Given the description of an element on the screen output the (x, y) to click on. 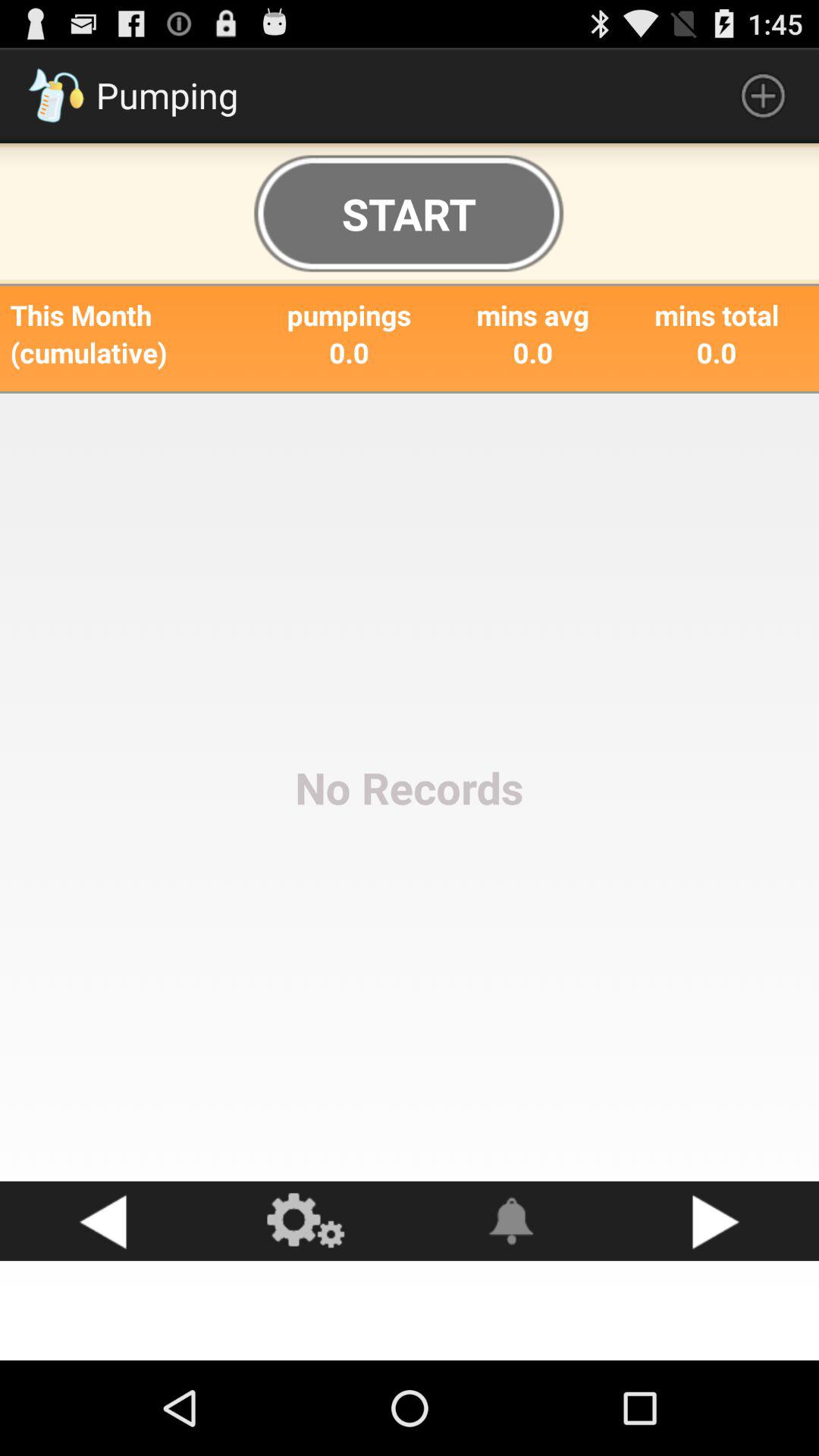
launch the icon at the bottom left corner (102, 1220)
